Given the description of an element on the screen output the (x, y) to click on. 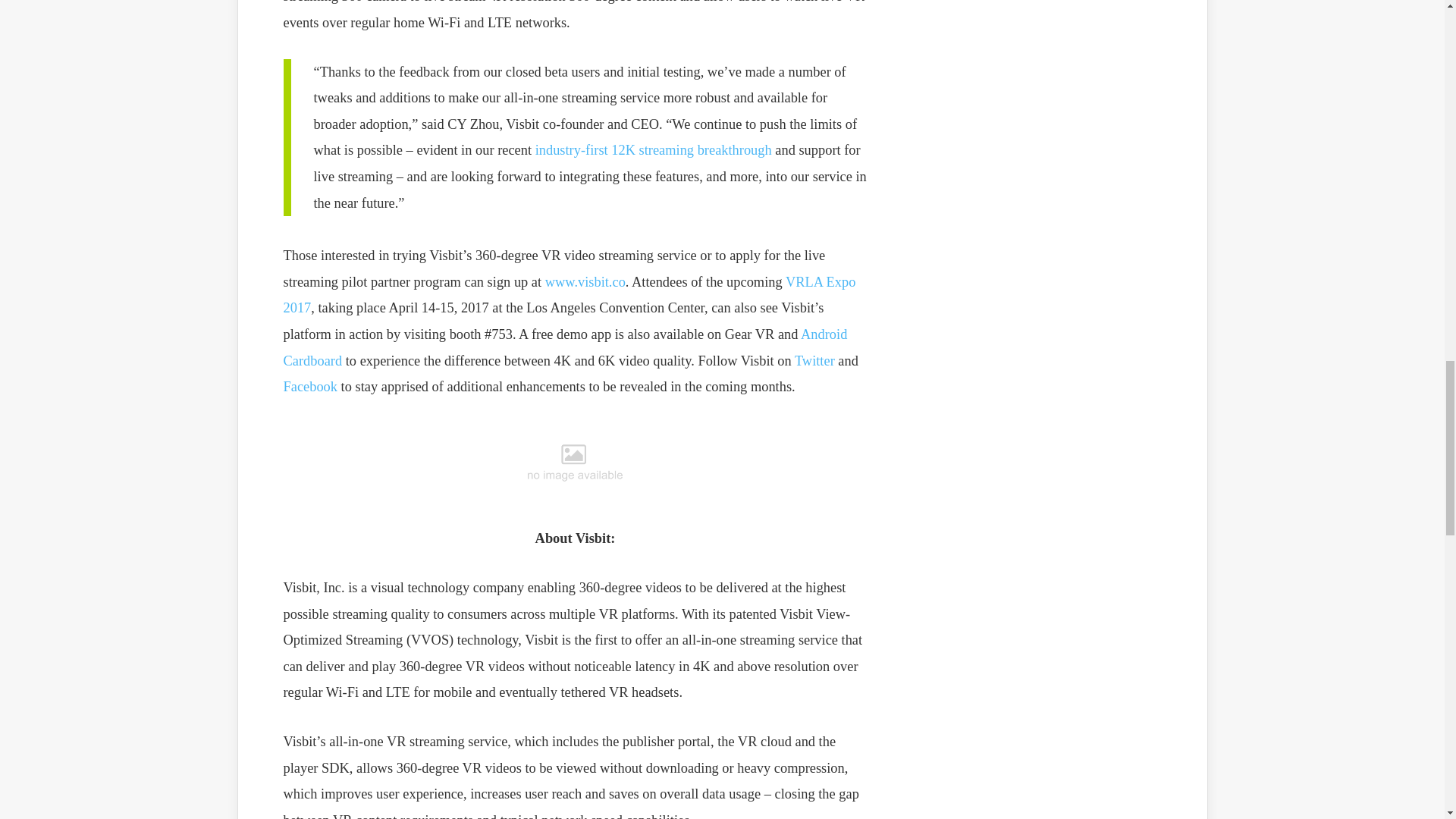
Android Cardboard (565, 347)
VRLA Expo 2017 (569, 295)
www.visbit.co (585, 281)
industry-first 12K streaming breakthrough (651, 150)
Twitter (814, 360)
Facebook (310, 386)
